Given the description of an element on the screen output the (x, y) to click on. 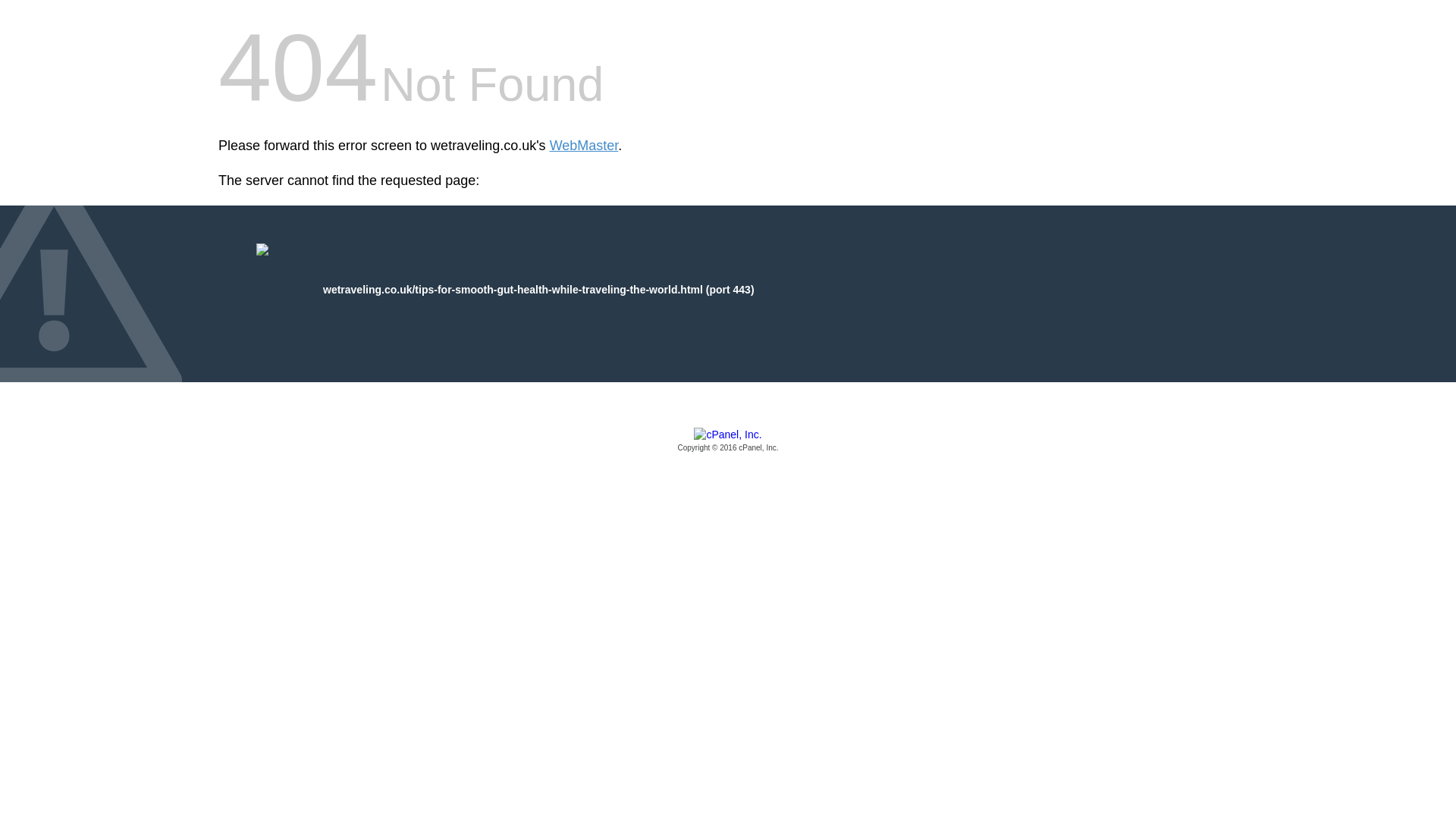
cPanel, Inc. (727, 440)
WebMaster (584, 145)
